Given the description of an element on the screen output the (x, y) to click on. 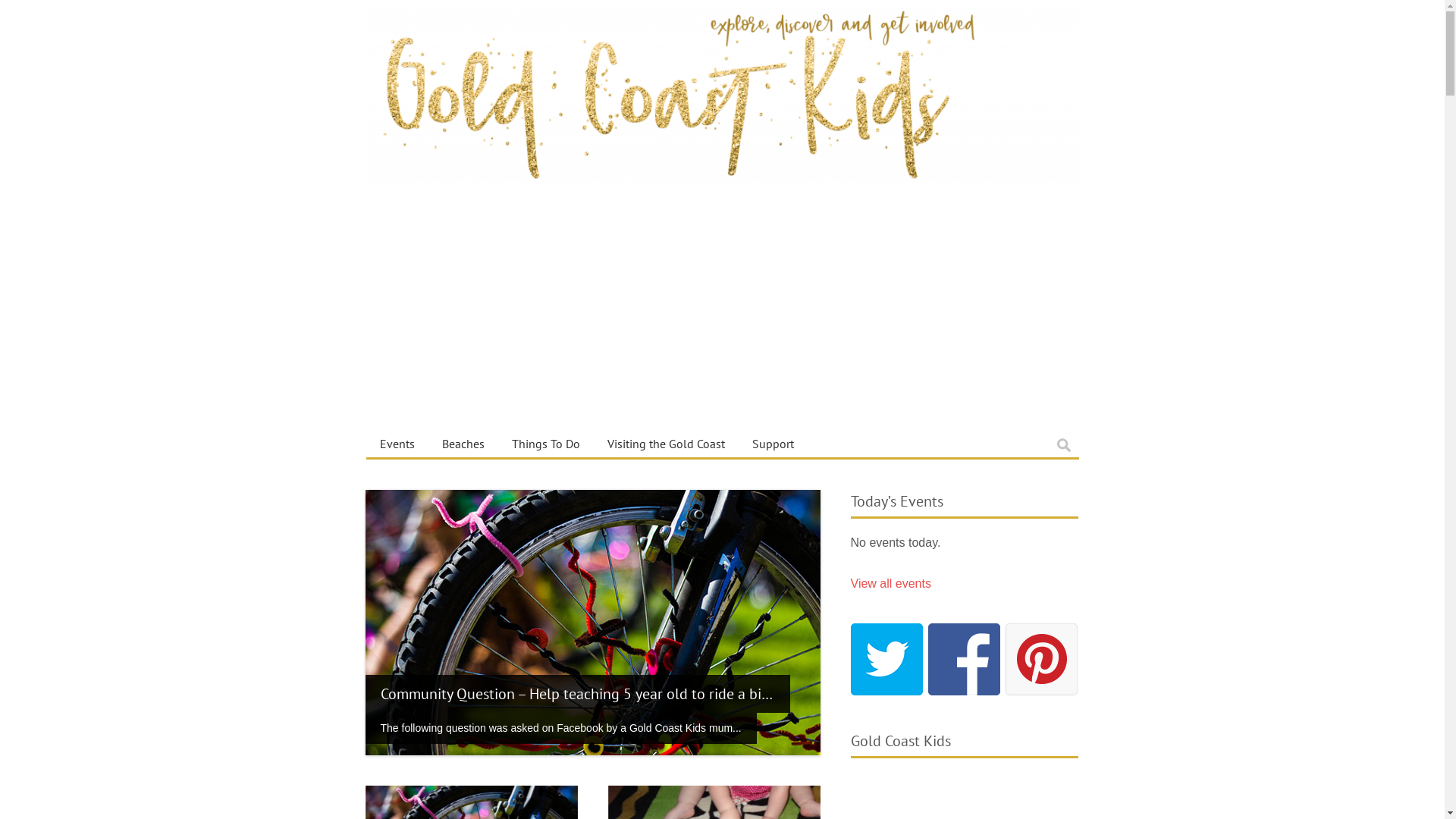
Support Element type: text (772, 443)
Visiting the Gold Coast Element type: text (665, 443)
Events Element type: text (396, 443)
Things To Do Element type: text (545, 443)
View all events Element type: text (890, 583)
Beaches Element type: text (462, 443)
Advertisement Element type: hover (721, 316)
